Given the description of an element on the screen output the (x, y) to click on. 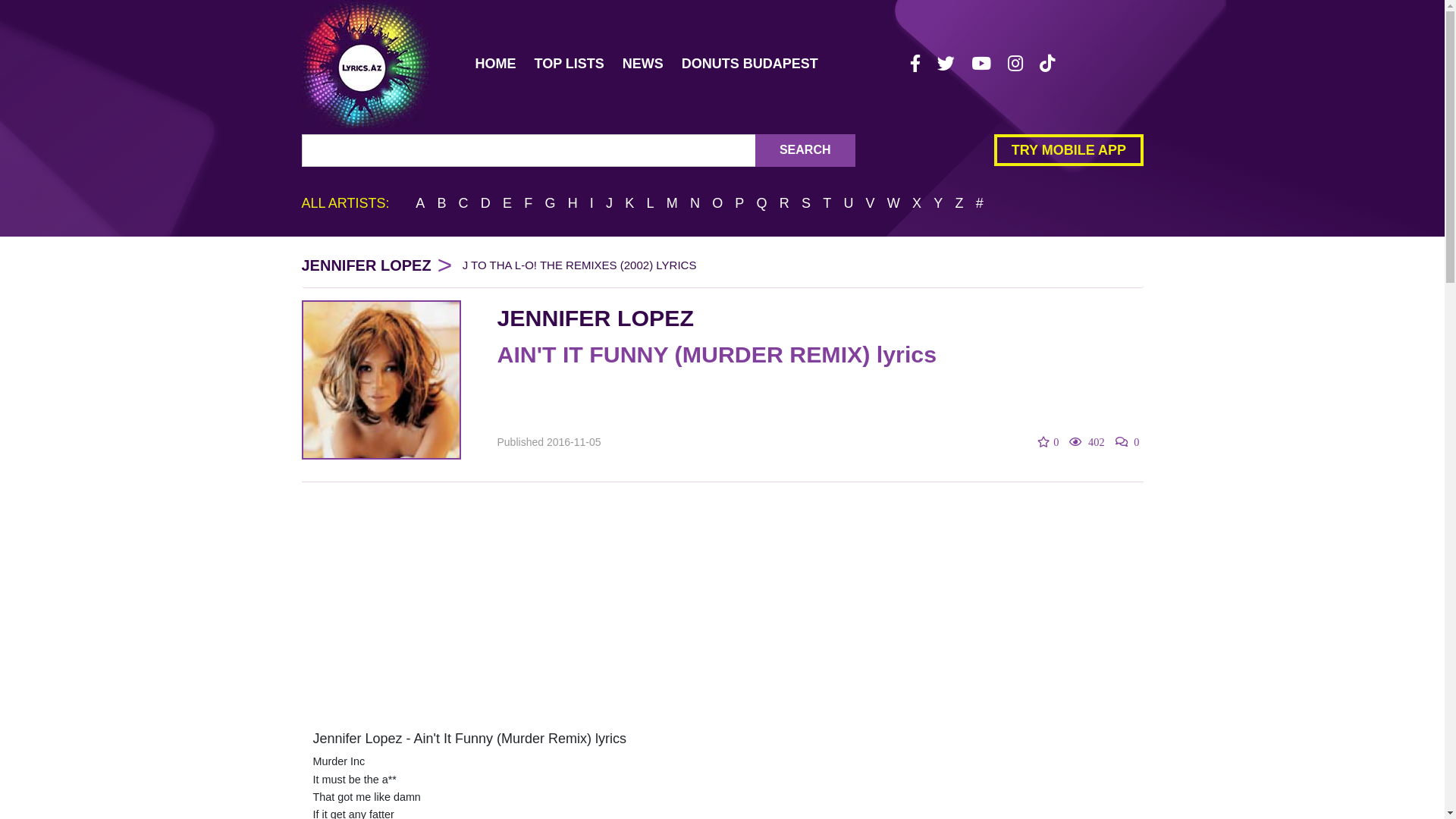
P Element type: text (738, 202)
L Element type: text (649, 202)
Lyrics.az on Twitter Element type: hover (945, 63)
SEARCH Element type: text (805, 150)
G Element type: text (549, 202)
H Element type: text (572, 202)
I Element type: text (591, 202)
# Element type: text (979, 202)
V Element type: text (870, 202)
K Element type: text (628, 202)
S Element type: text (805, 202)
J Element type: text (608, 202)
DONUTS BUDAPEST Element type: text (749, 64)
Lyrics.az on Instagram Element type: hover (1015, 63)
R Element type: text (784, 202)
B Element type: text (440, 202)
T Element type: text (826, 202)
Y Element type: text (937, 202)
TRY MOBILE APP Element type: text (1068, 150)
NEWS Element type: text (642, 64)
E Element type: text (506, 202)
JENNIFER LOPEZ Element type: text (366, 265)
Lyrics.az on Youtube Element type: hover (981, 63)
M Element type: text (671, 202)
J TO THA L-O! THE REMIXES (2002) LYRICS Element type: text (579, 263)
JENNIFER LOPEZ Element type: text (595, 317)
Lyrics.az on Tiktok Element type: hover (1047, 63)
HOME Element type: text (494, 64)
F Element type: text (528, 202)
N Element type: text (694, 202)
O Element type: text (717, 202)
D Element type: text (485, 202)
A Element type: text (419, 202)
Q Element type: text (761, 202)
Z Element type: text (958, 202)
C Element type: text (463, 202)
TOP LISTS Element type: text (568, 64)
U Element type: text (848, 202)
X Element type: text (916, 202)
Lyrics.az on Facebook Element type: hover (914, 63)
W Element type: text (893, 202)
Advertisement Element type: hover (722, 606)
